Given the description of an element on the screen output the (x, y) to click on. 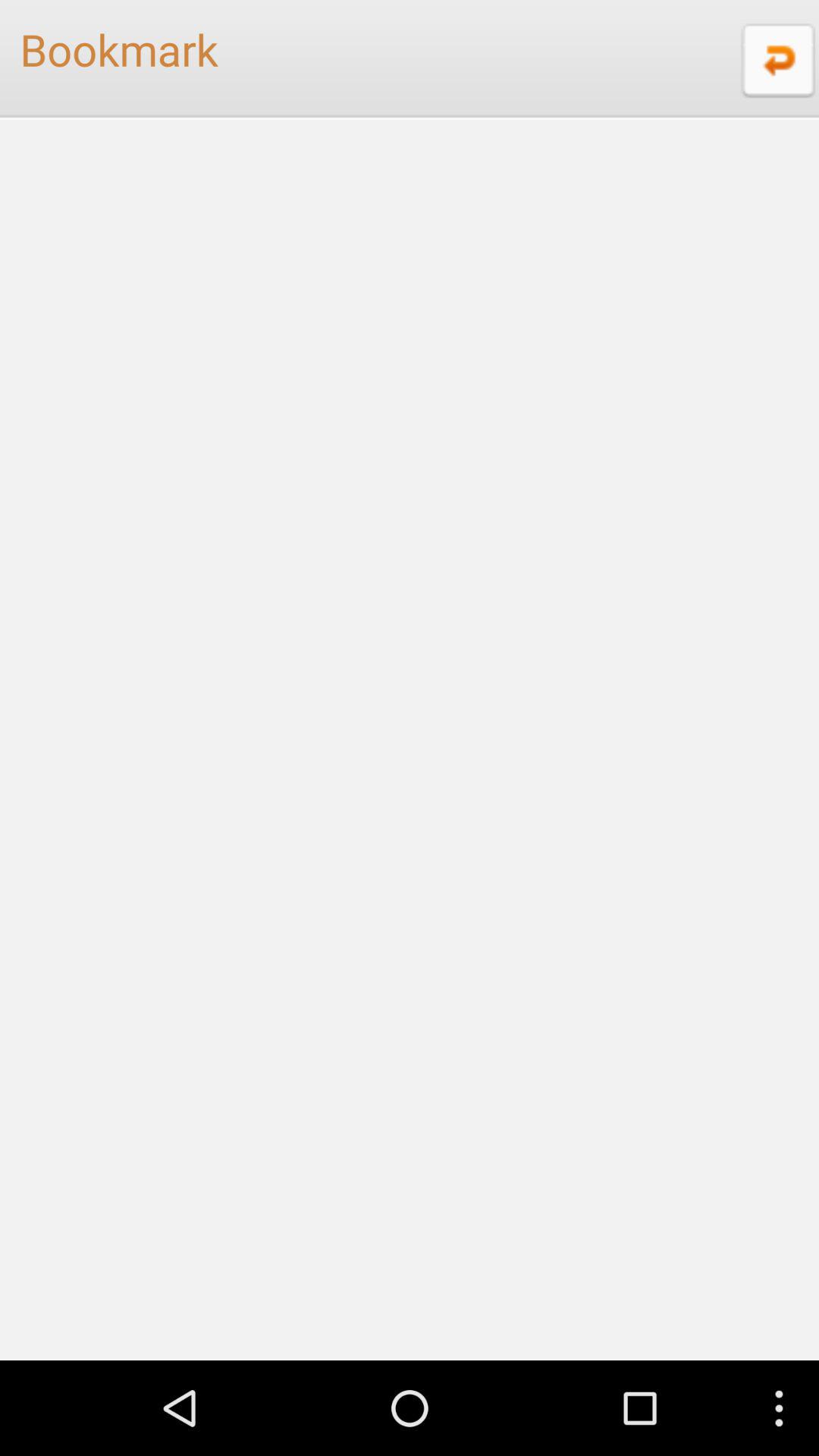
turn on the icon to the right of the bookmark (776, 59)
